Given the description of an element on the screen output the (x, y) to click on. 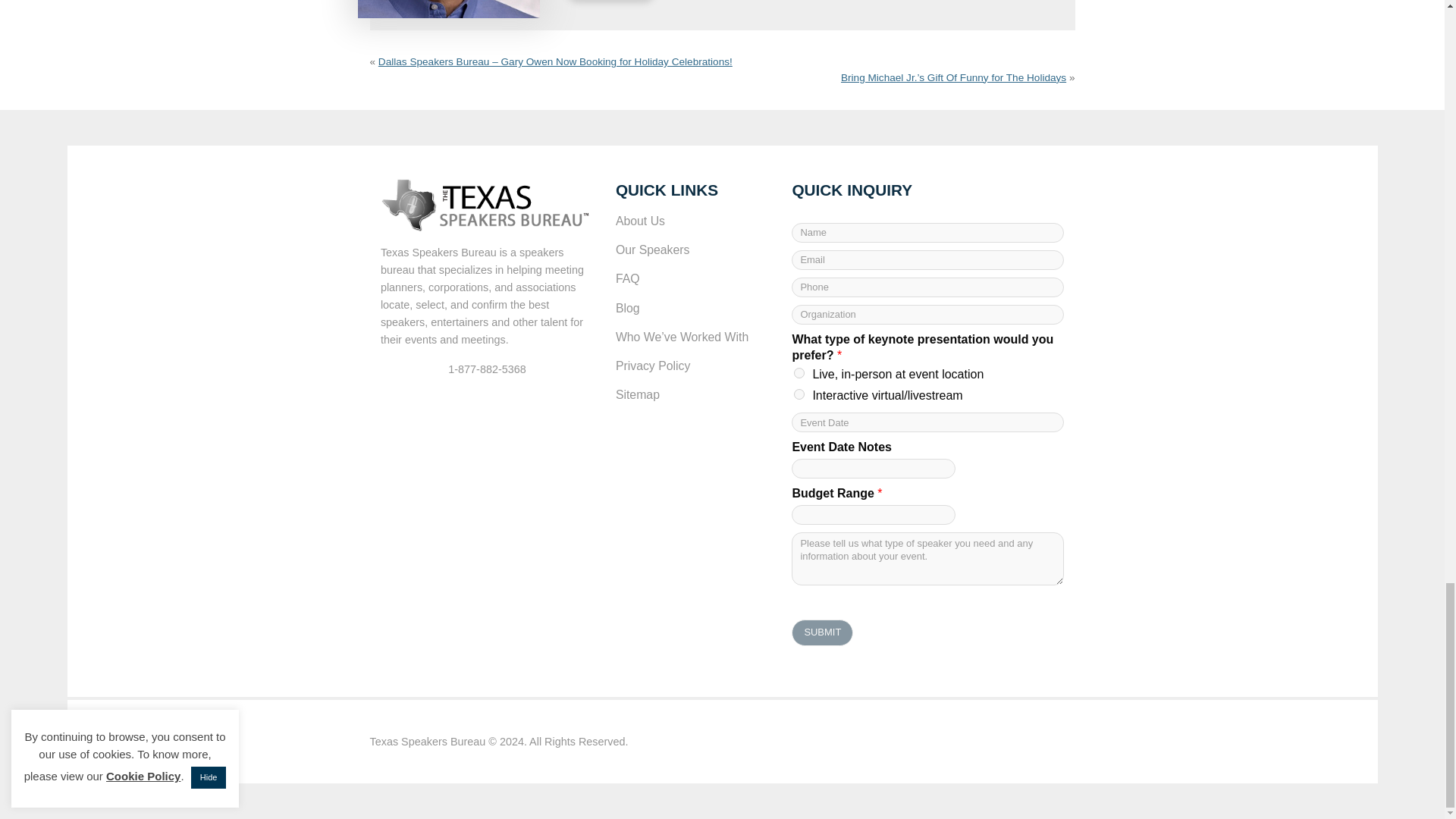
FAQ (692, 278)
Privacy Policy (692, 366)
1-877-882-5368 (486, 369)
SUBMIT (822, 632)
Blog (692, 307)
Texas Speakers Bureau (427, 741)
Live, in-person at event location (799, 372)
Jim Bearden (449, 9)
About Us (692, 221)
Our Speakers (692, 249)
Sitemap (692, 394)
